Given the description of an element on the screen output the (x, y) to click on. 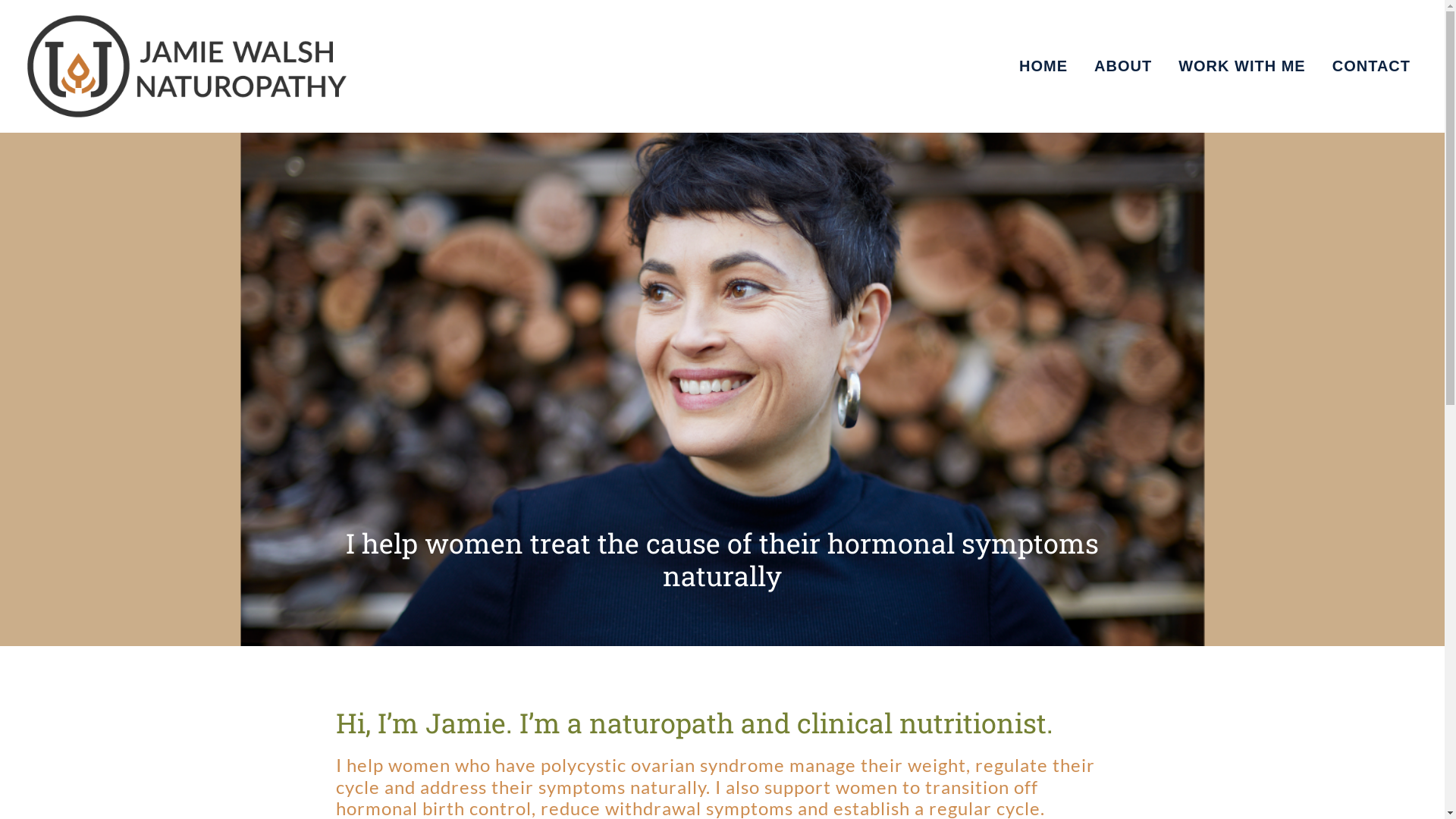
ABOUT Element type: text (1122, 65)
HOME Element type: text (1043, 65)
Skip to primary navigation Element type: text (0, 0)
WORK WITH ME Element type: text (1242, 65)
Jamie Walsh Naturopathy Element type: text (68, 144)
CONTACT Element type: text (1371, 65)
